Given the description of an element on the screen output the (x, y) to click on. 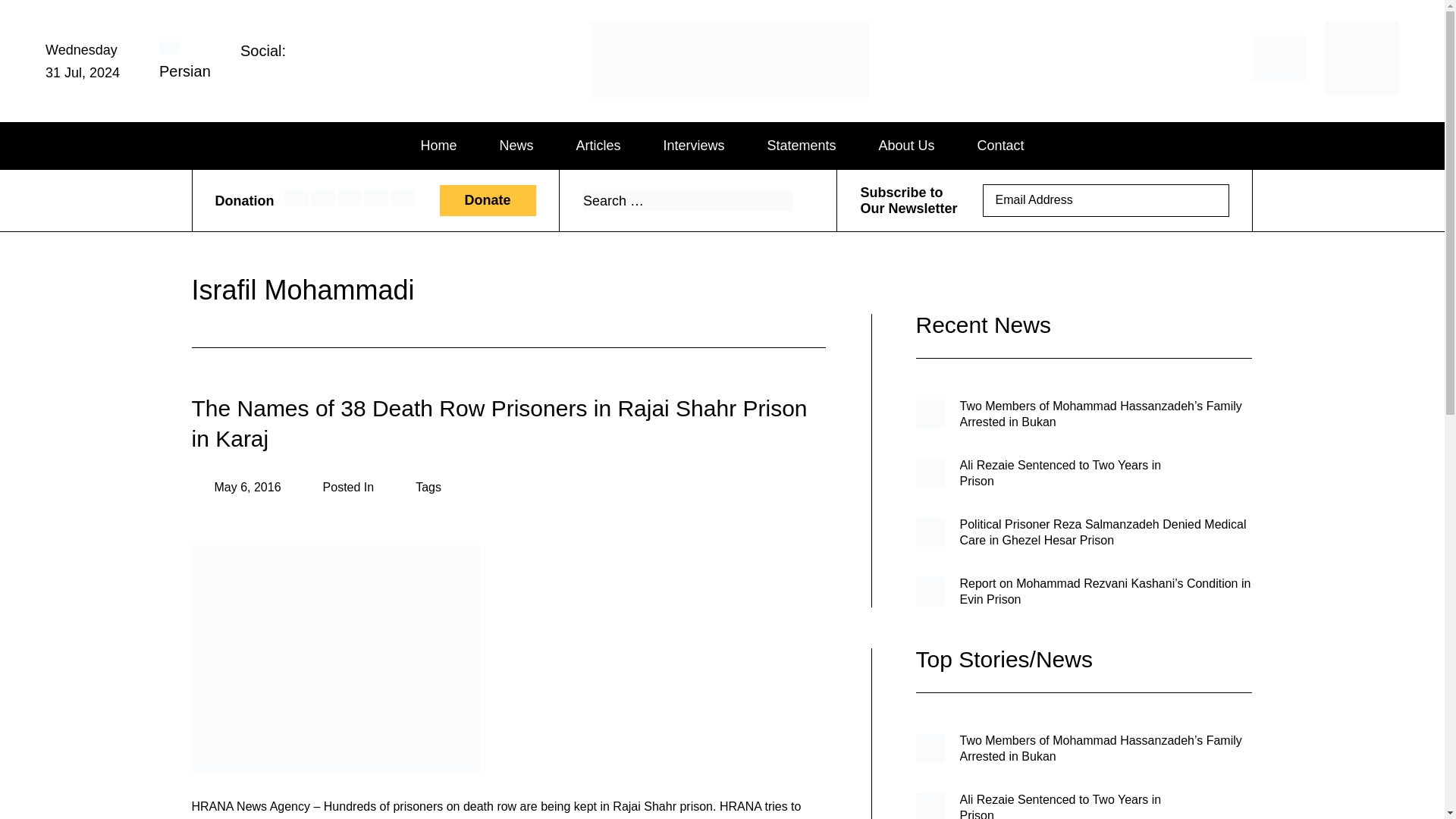
Search (801, 199)
Donate (487, 204)
Contact (1000, 145)
Interviews (693, 145)
Articles (598, 145)
About Us (906, 145)
Home (437, 145)
Statements (801, 145)
News (515, 145)
Search (801, 199)
May 6, 2016 (235, 486)
Sign up (1207, 203)
Sign up (1207, 200)
